Given the description of an element on the screen output the (x, y) to click on. 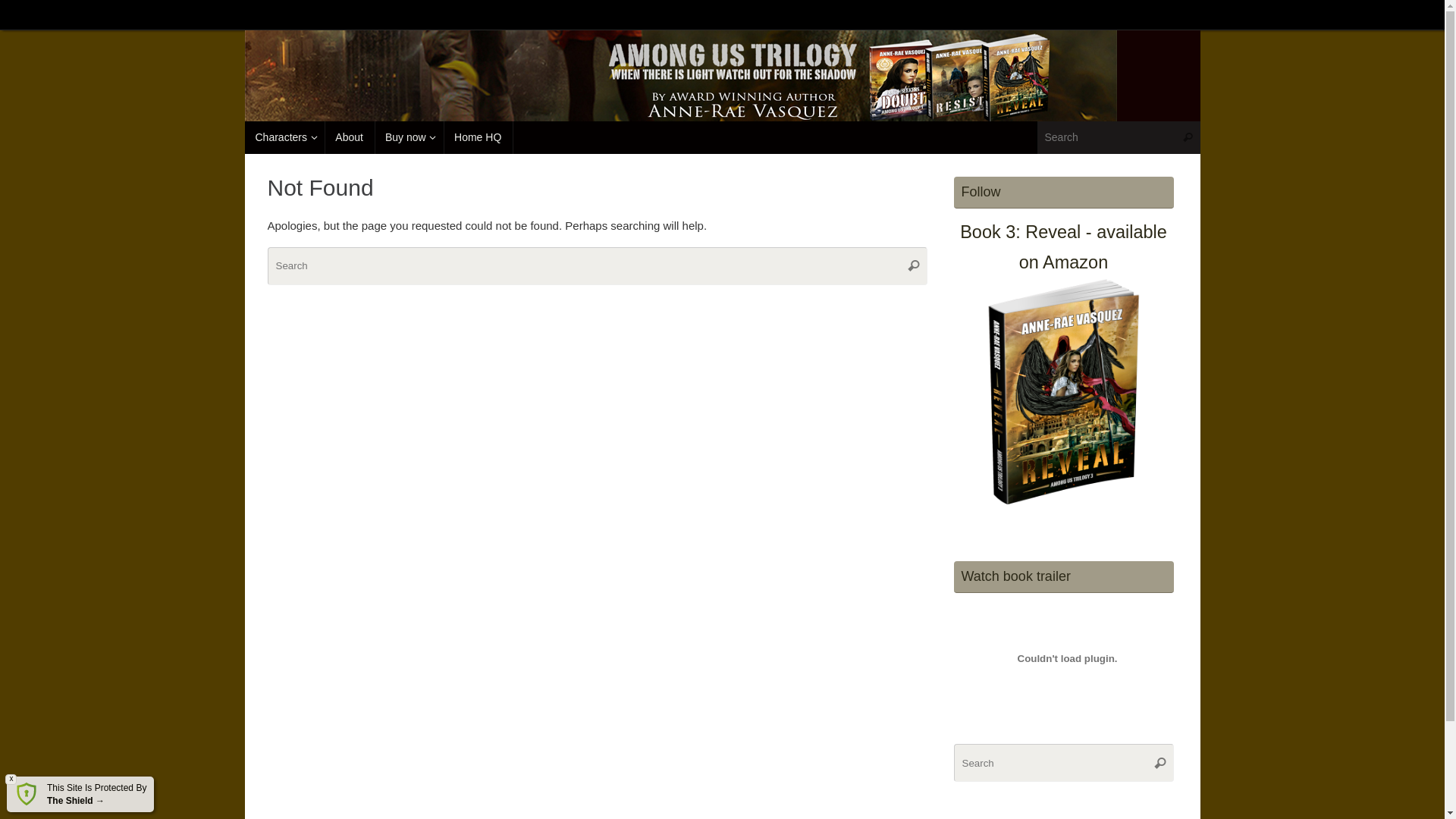
Buy now Element type: text (408, 137)
x Element type: text (10, 779)
About Element type: text (349, 137)
Characters Element type: text (284, 137)
Home HQ Element type: text (477, 137)
